Given the description of an element on the screen output the (x, y) to click on. 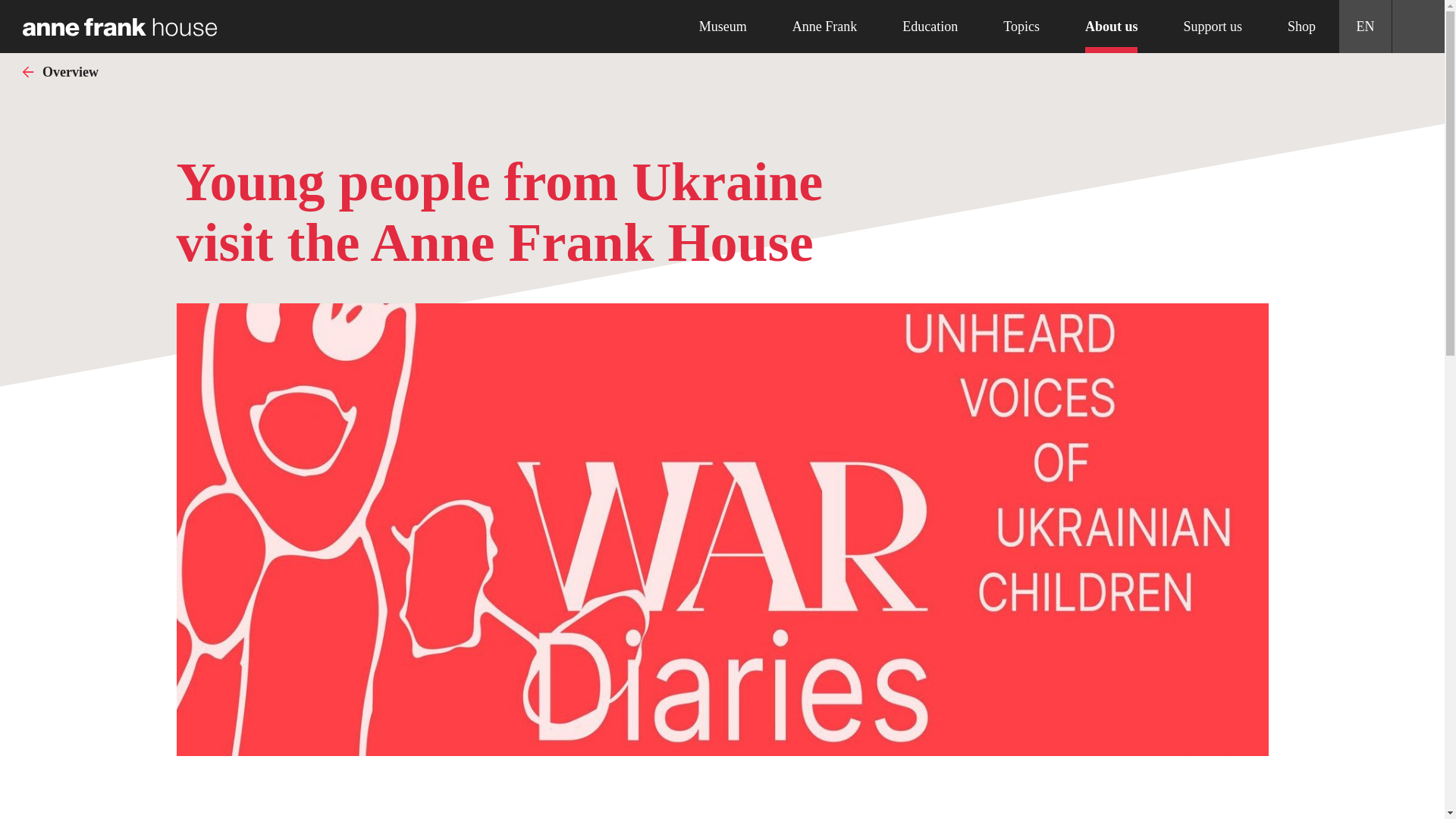
Topics (1020, 26)
Education (929, 26)
Museum (723, 26)
Support us (1212, 26)
About us (1111, 26)
Anne Frank (824, 26)
